Given the description of an element on the screen output the (x, y) to click on. 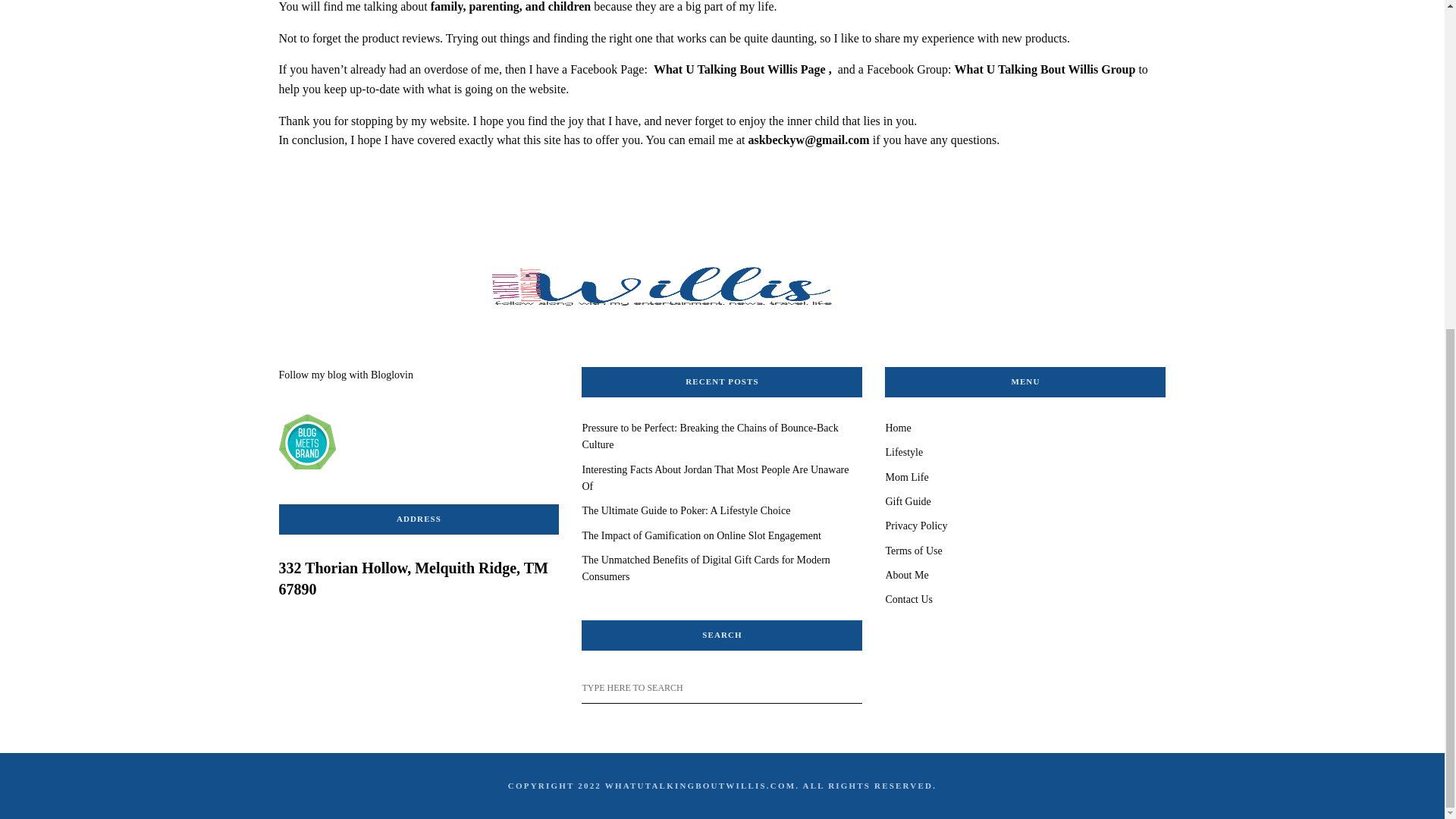
The Impact of Gamification on Online Slot Engagement (700, 535)
What U Talking Bout Willis Page (739, 69)
Follow my blog with Bloglovin (346, 374)
What U Talking Bout Willis Group (1044, 69)
The Ultimate Guide to Poker: A Lifestyle Choice (685, 510)
What U Talking Bout Willis (722, 291)
